Given the description of an element on the screen output the (x, y) to click on. 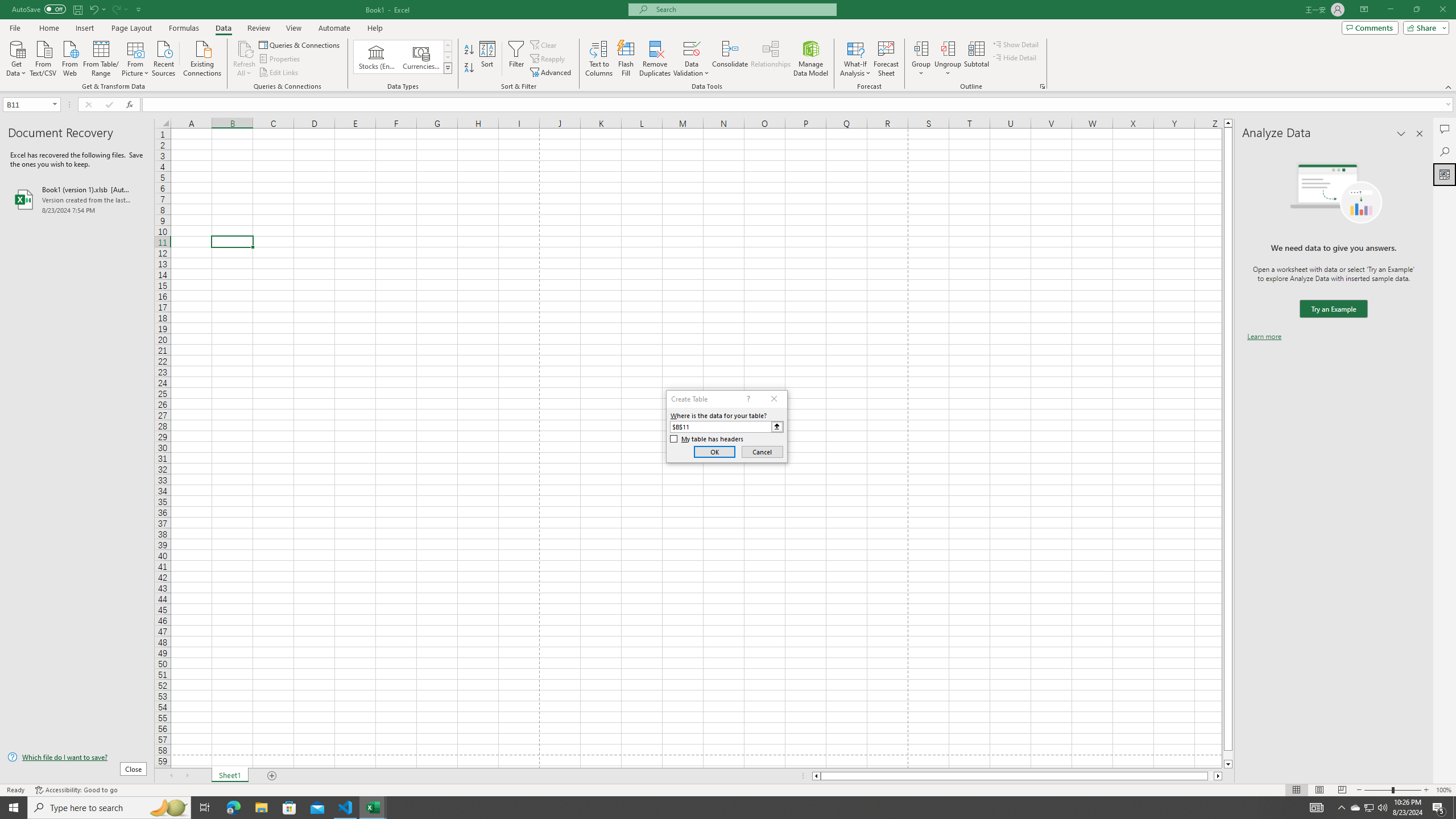
From Table/Range (100, 57)
Reapply (548, 58)
Flash Fill (625, 58)
Relationships (770, 58)
